Given the description of an element on the screen output the (x, y) to click on. 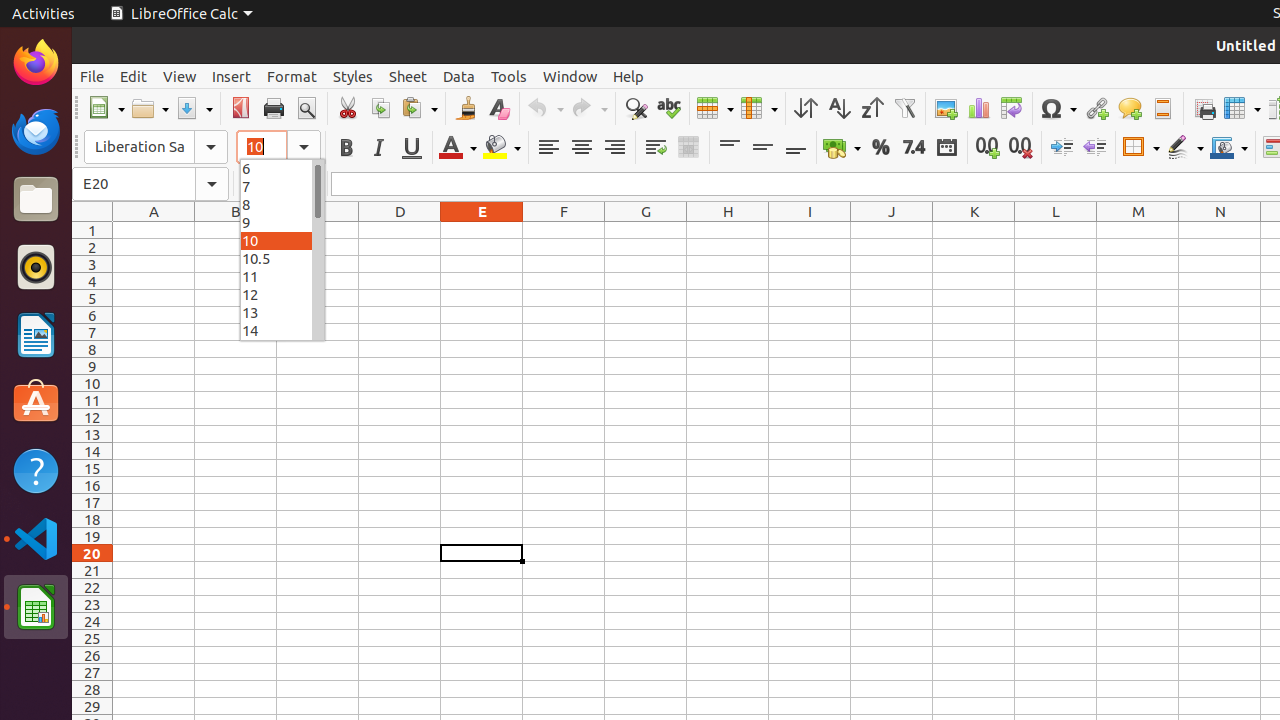
Styles Element type: menu (353, 76)
10 Element type: list-item (282, 240)
LibreOffice Writer Element type: push-button (36, 334)
12 Element type: list-item (282, 294)
K1 Element type: table-cell (974, 230)
